Given the description of an element on the screen output the (x, y) to click on. 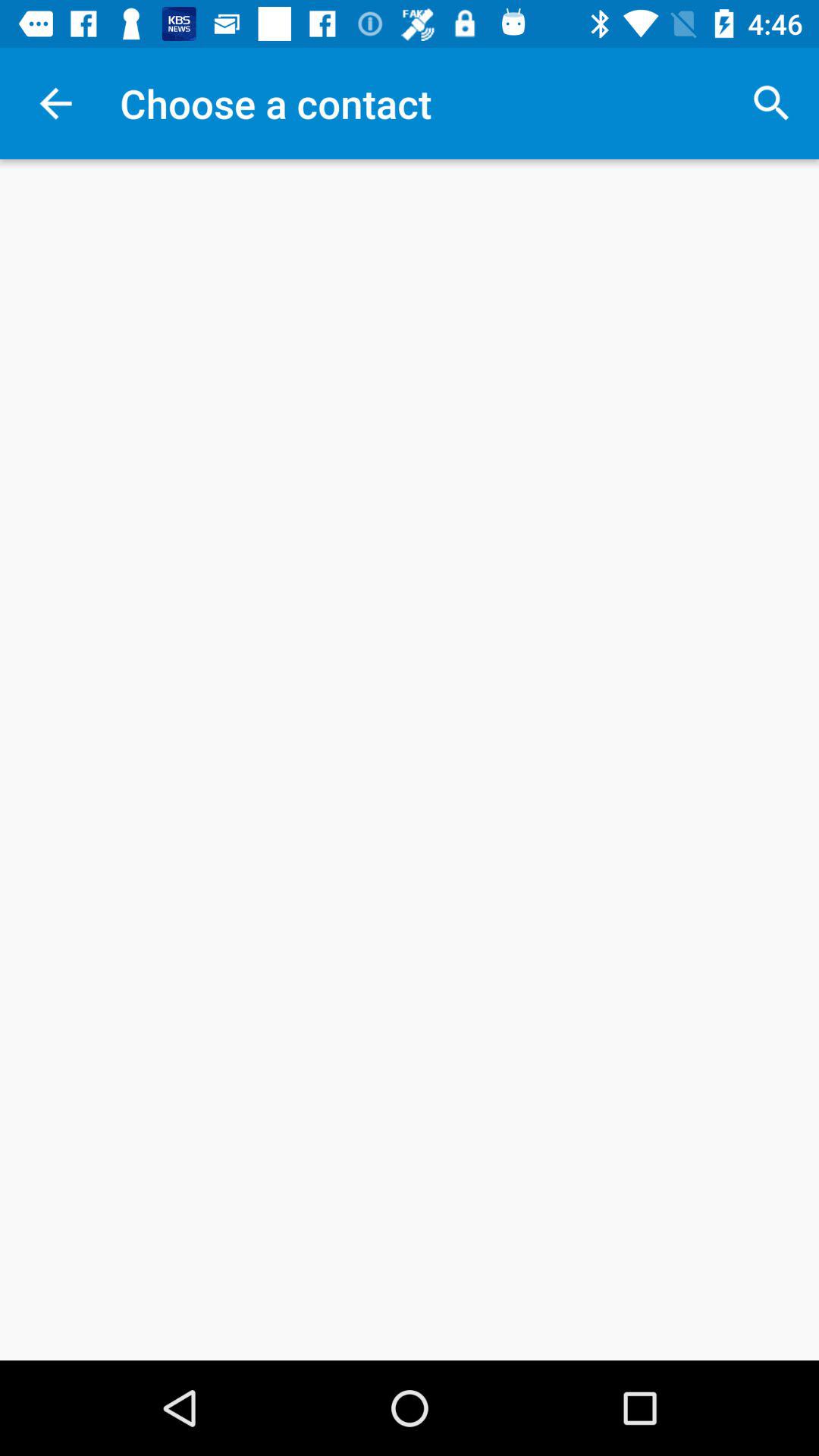
tap the item at the top right corner (771, 103)
